Given the description of an element on the screen output the (x, y) to click on. 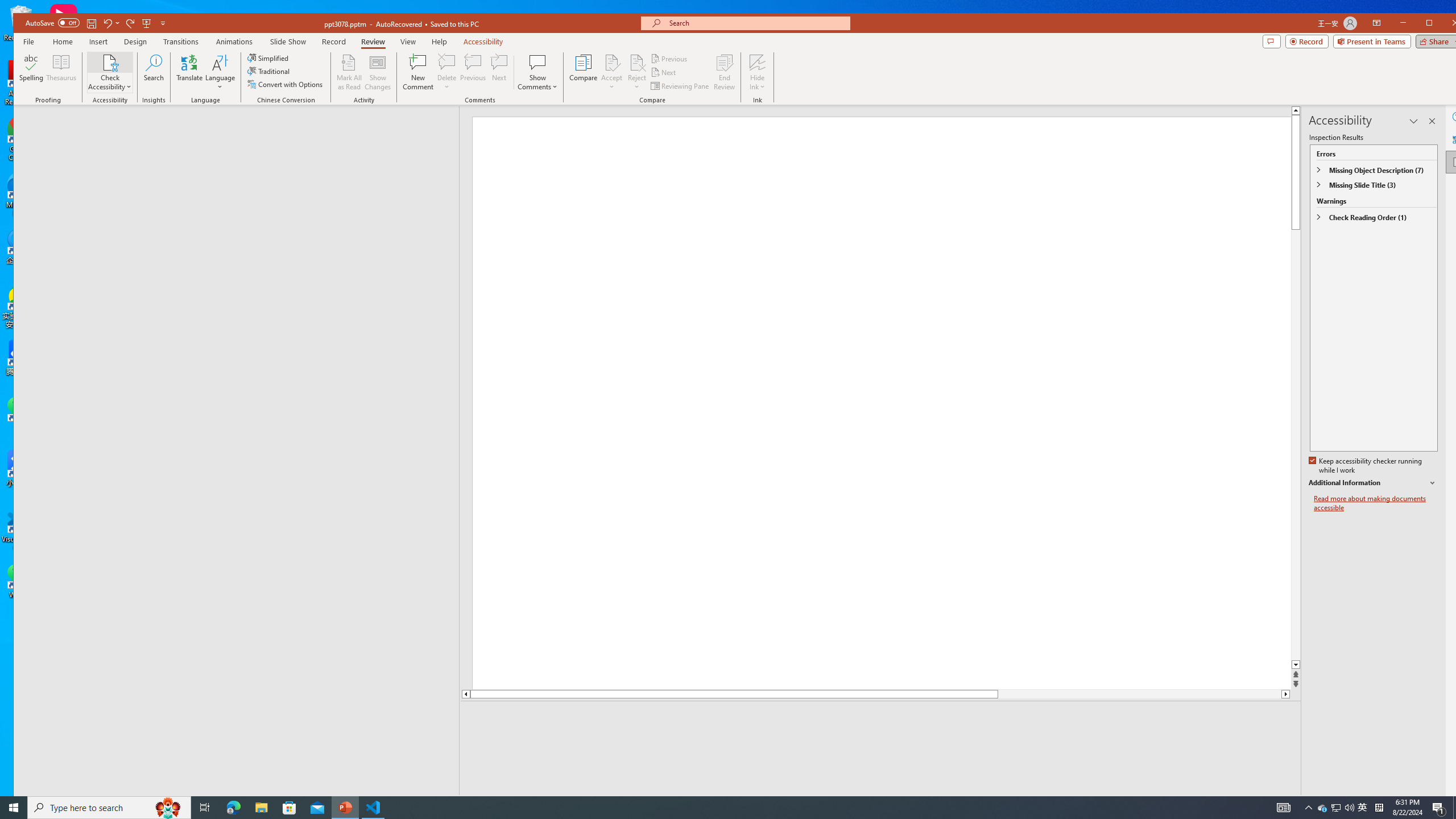
Reject (636, 72)
Accept (611, 72)
